Given the description of an element on the screen output the (x, y) to click on. 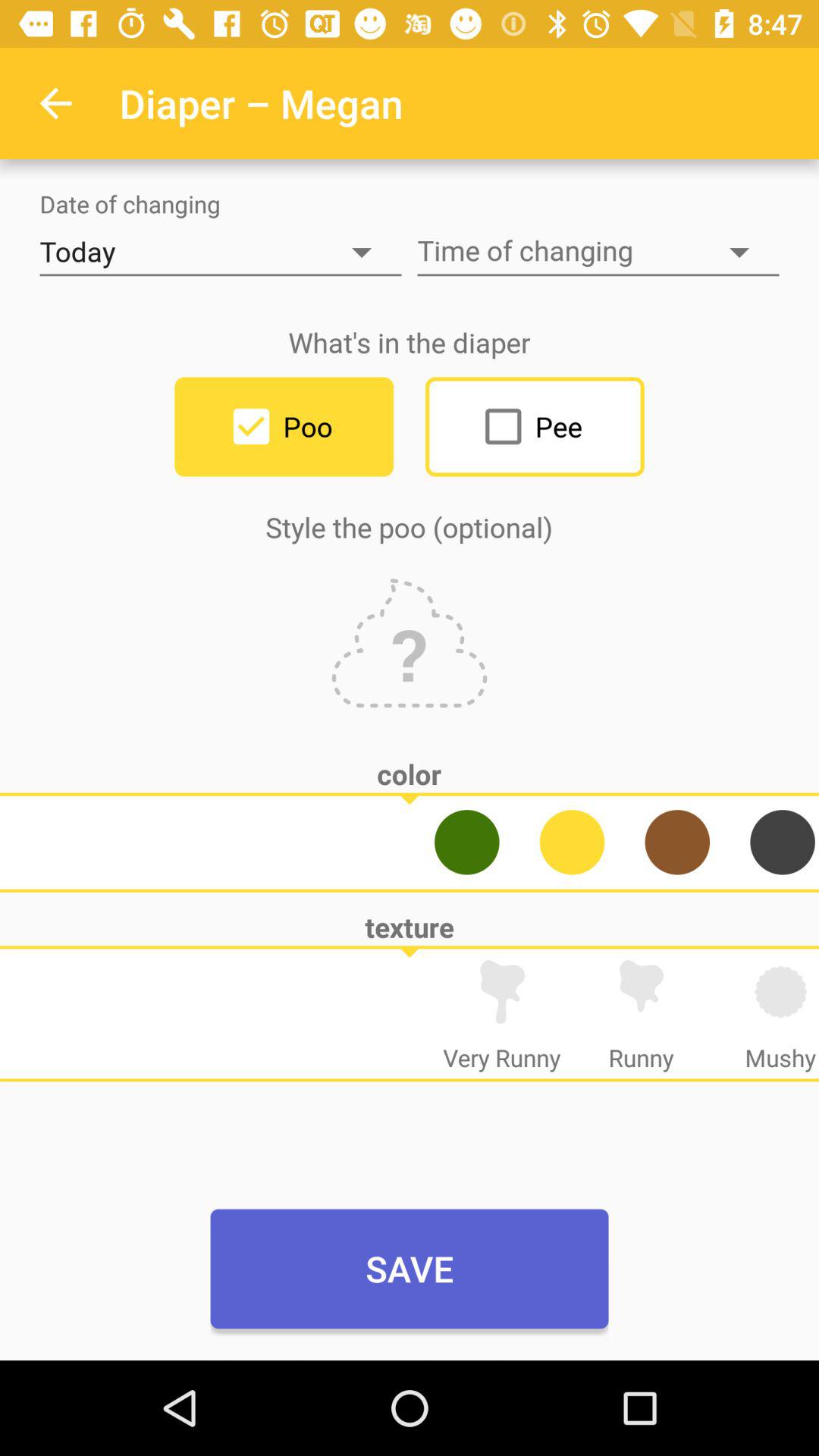
select color green (466, 842)
